Given the description of an element on the screen output the (x, y) to click on. 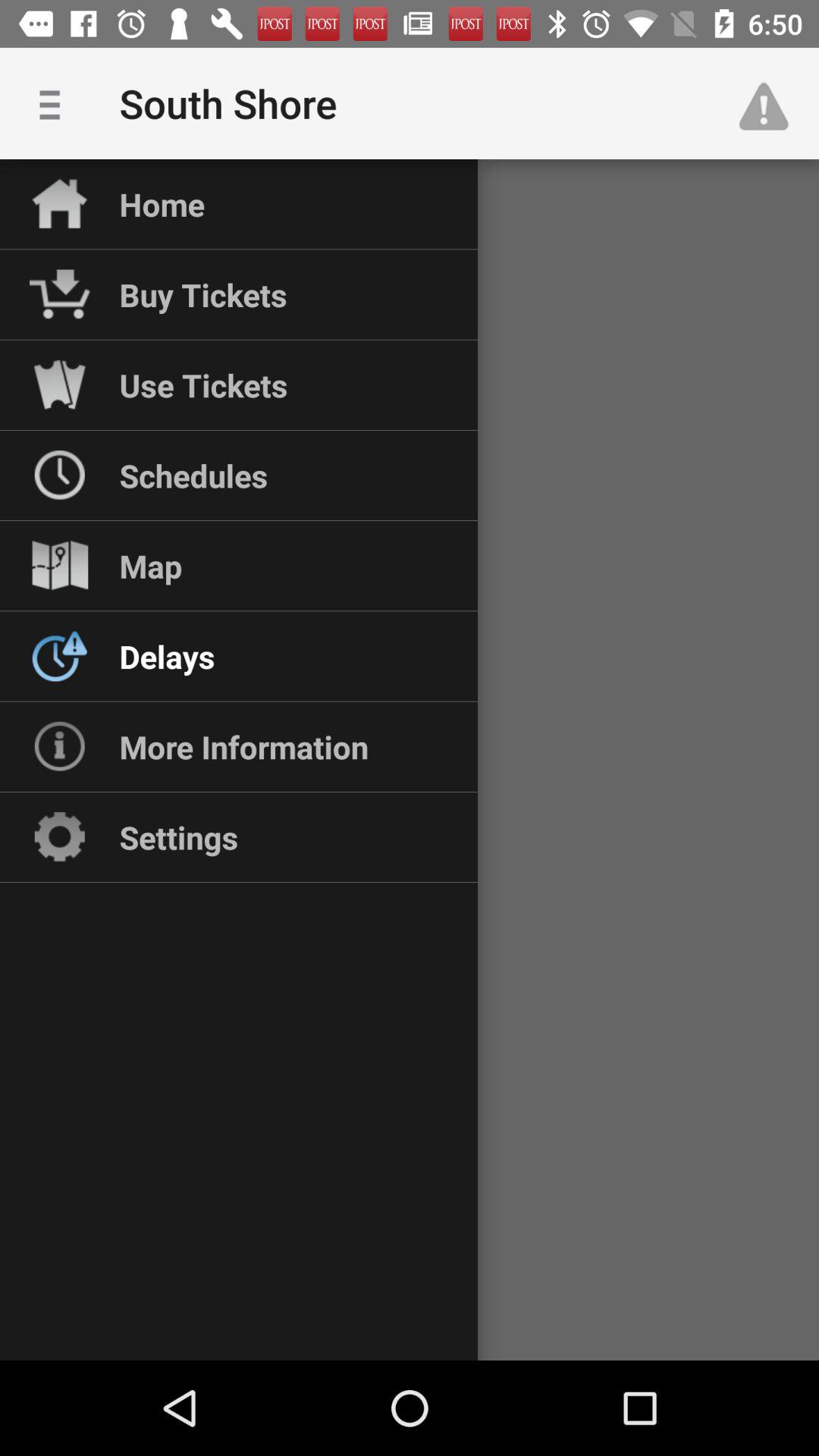
jump until settings (178, 837)
